Given the description of an element on the screen output the (x, y) to click on. 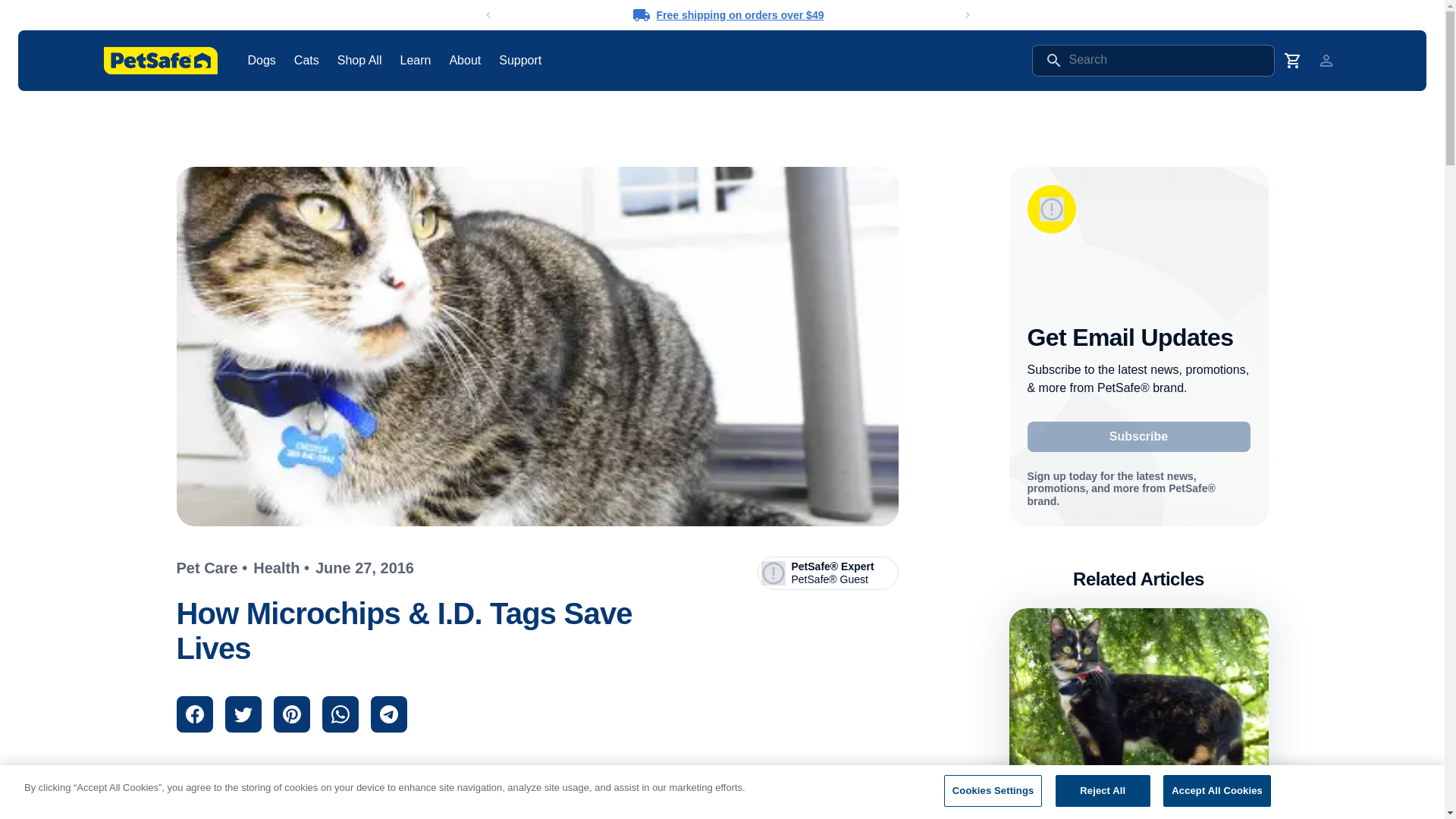
Shop All (359, 60)
Subscribe (1138, 713)
Support (1137, 436)
